Given the description of an element on the screen output the (x, y) to click on. 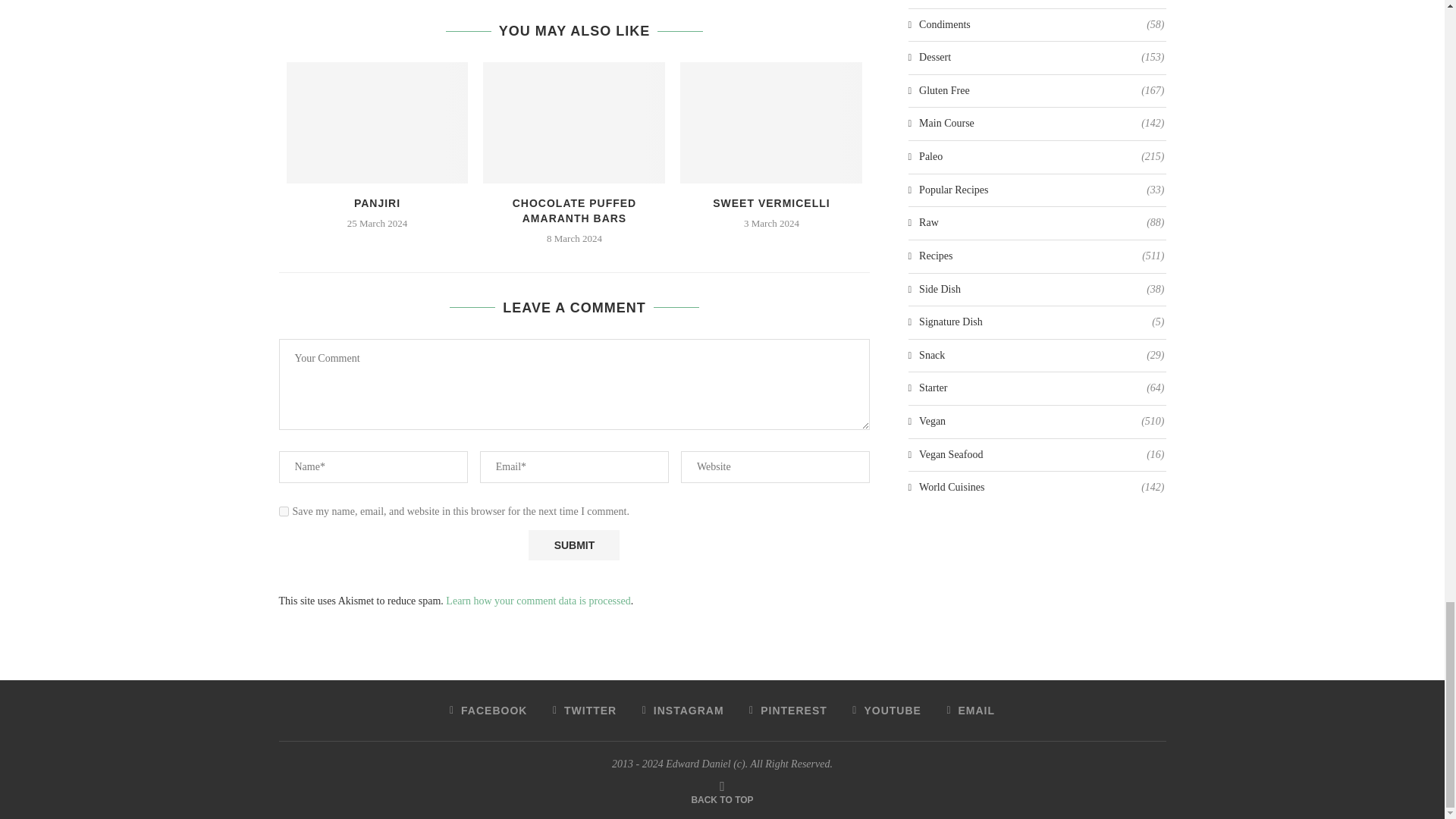
yes (283, 510)
Panjiri (377, 122)
Sweet Vermicelli (770, 122)
Submit (574, 544)
Chocolate Puffed Amaranth Bars (574, 122)
